Given the description of an element on the screen output the (x, y) to click on. 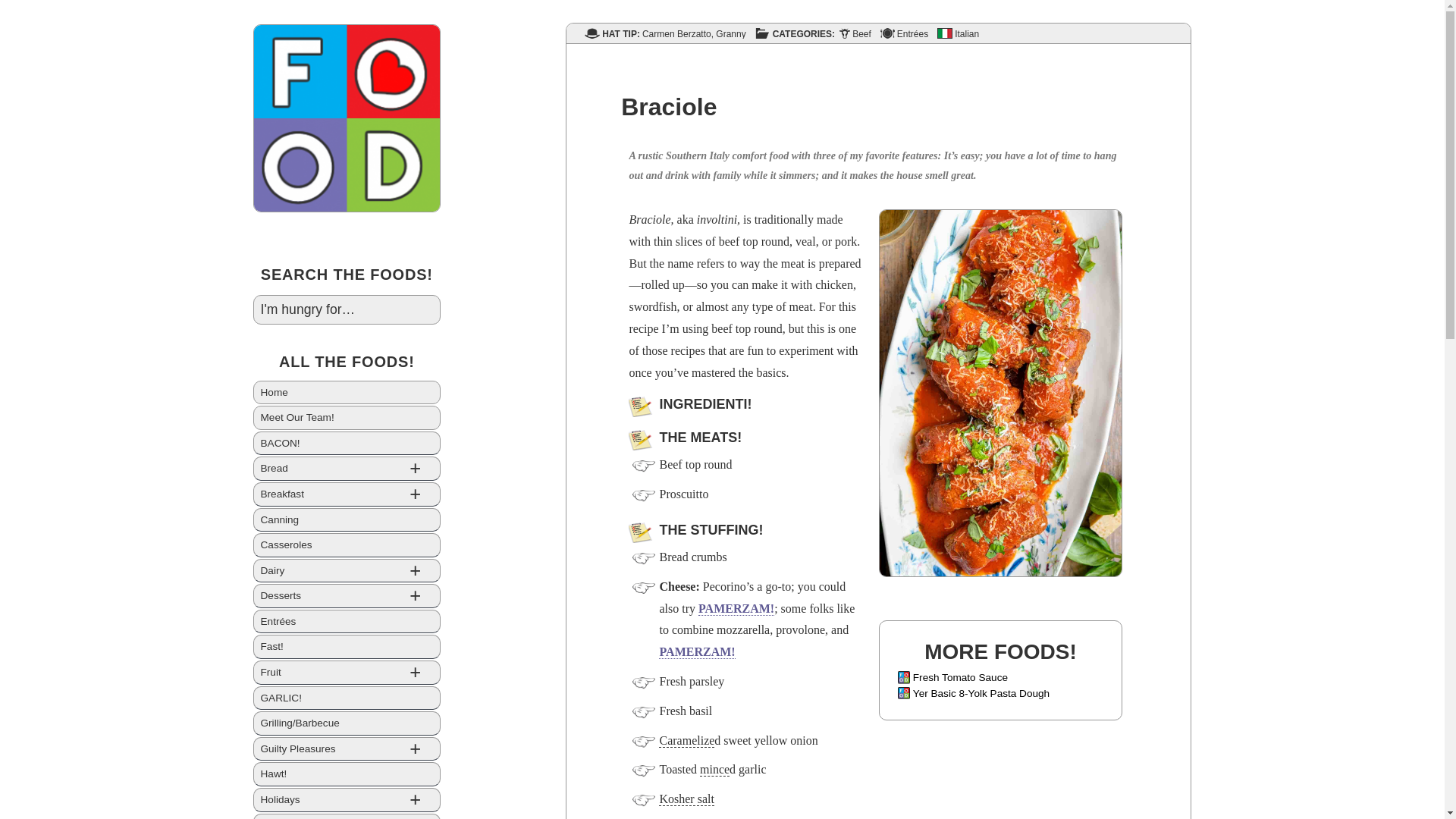
Meet Our Team! (347, 417)
BACON! (347, 443)
Home (347, 392)
Casseroles (347, 545)
Meet Our Team! (347, 417)
Home (347, 392)
